Given the description of an element on the screen output the (x, y) to click on. 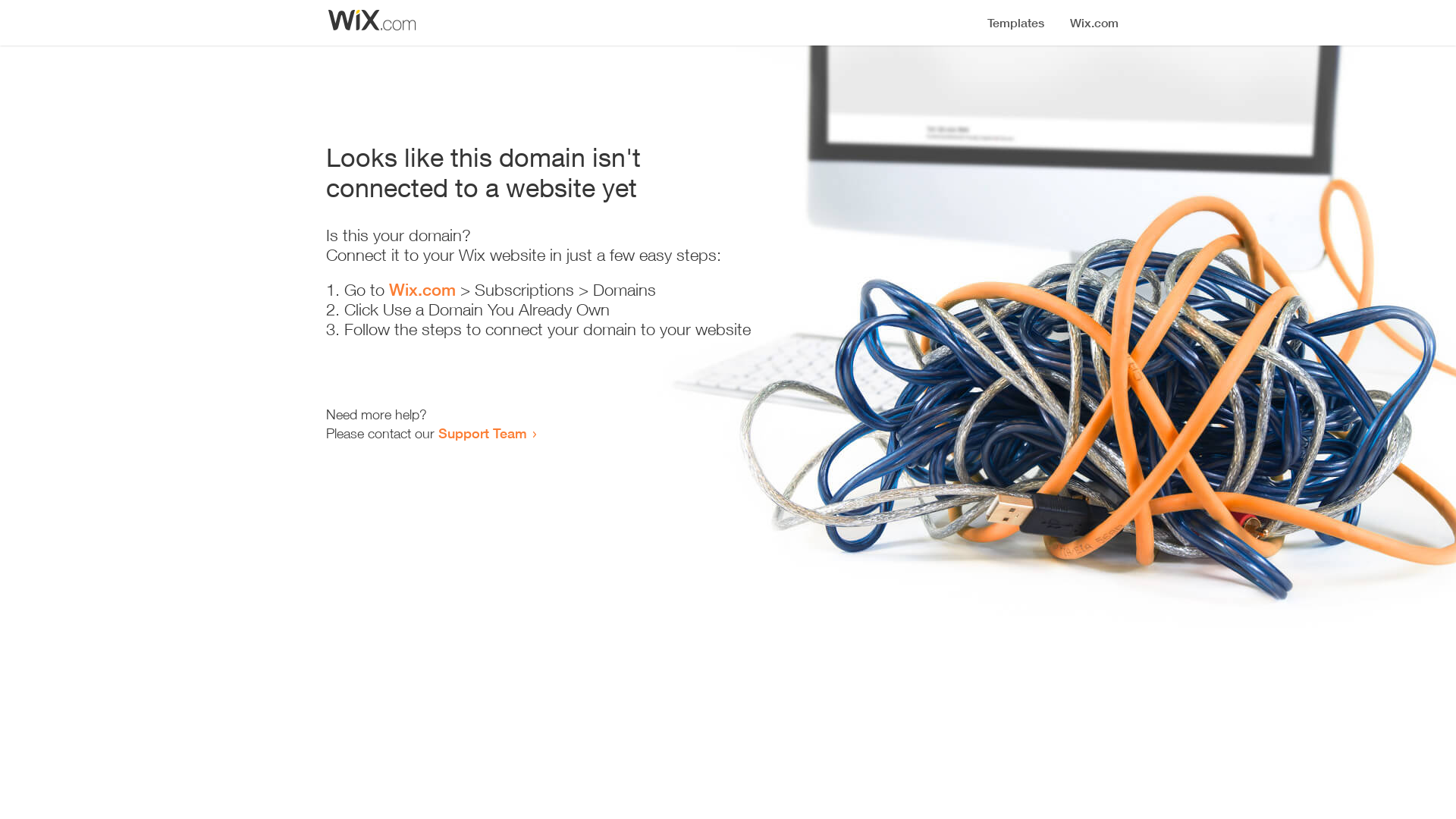
Wix.com Element type: text (422, 289)
Support Team Element type: text (482, 432)
